Given the description of an element on the screen output the (x, y) to click on. 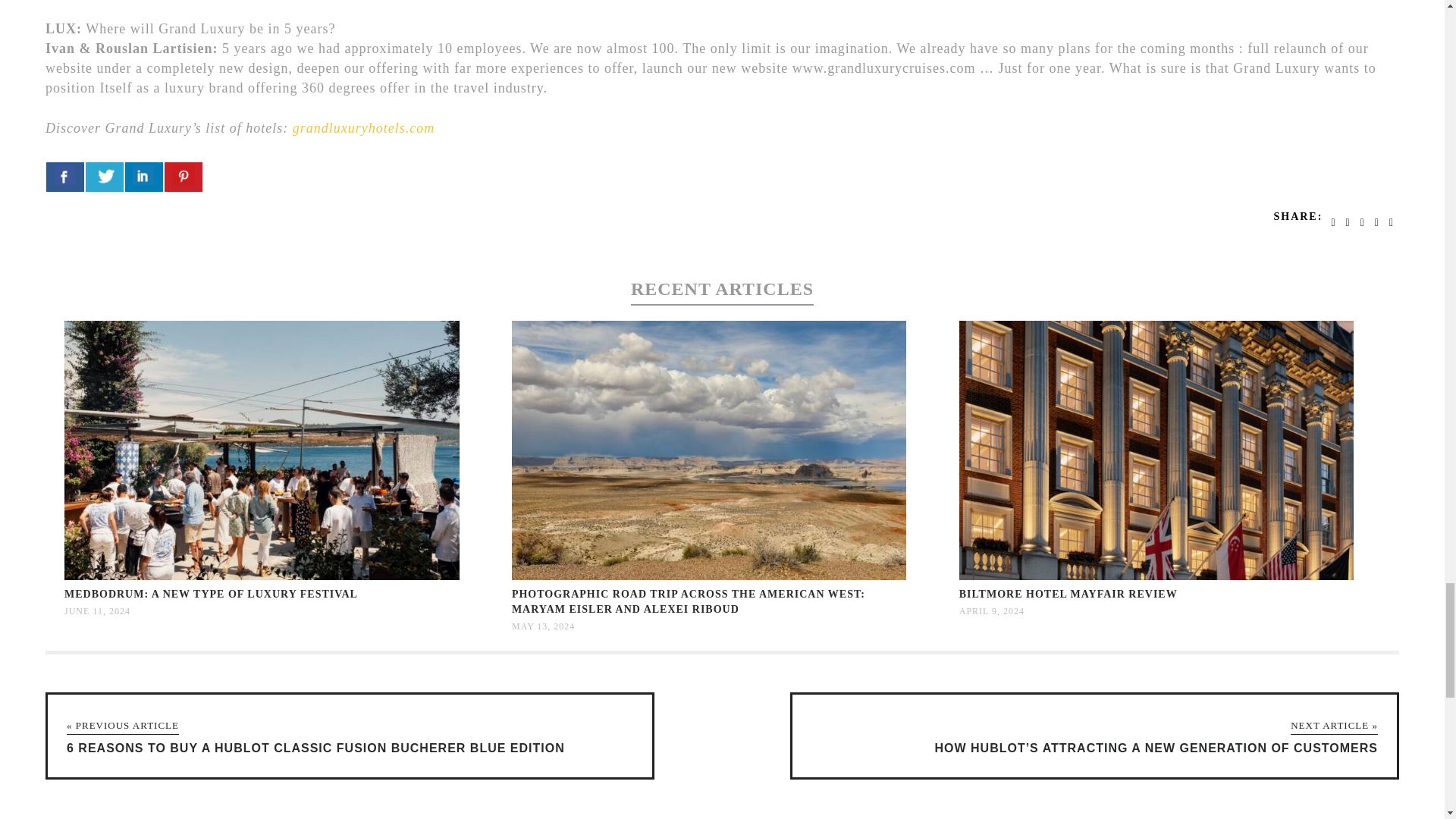
Share On Linkedin (144, 176)
Permanent Link to Biltmore Hotel Mayfair Review (1156, 576)
Permanent Link to Biltmore Hotel Mayfair Review (1068, 593)
Share On Twitter (104, 176)
Permanent Link to MedBodrum: A New Type of Luxury Festival (262, 576)
Share On Facebook (65, 176)
Share On Pinterest (183, 176)
Permanent Link to MedBodrum: A New Type of Luxury Festival (211, 593)
